Given the description of an element on the screen output the (x, y) to click on. 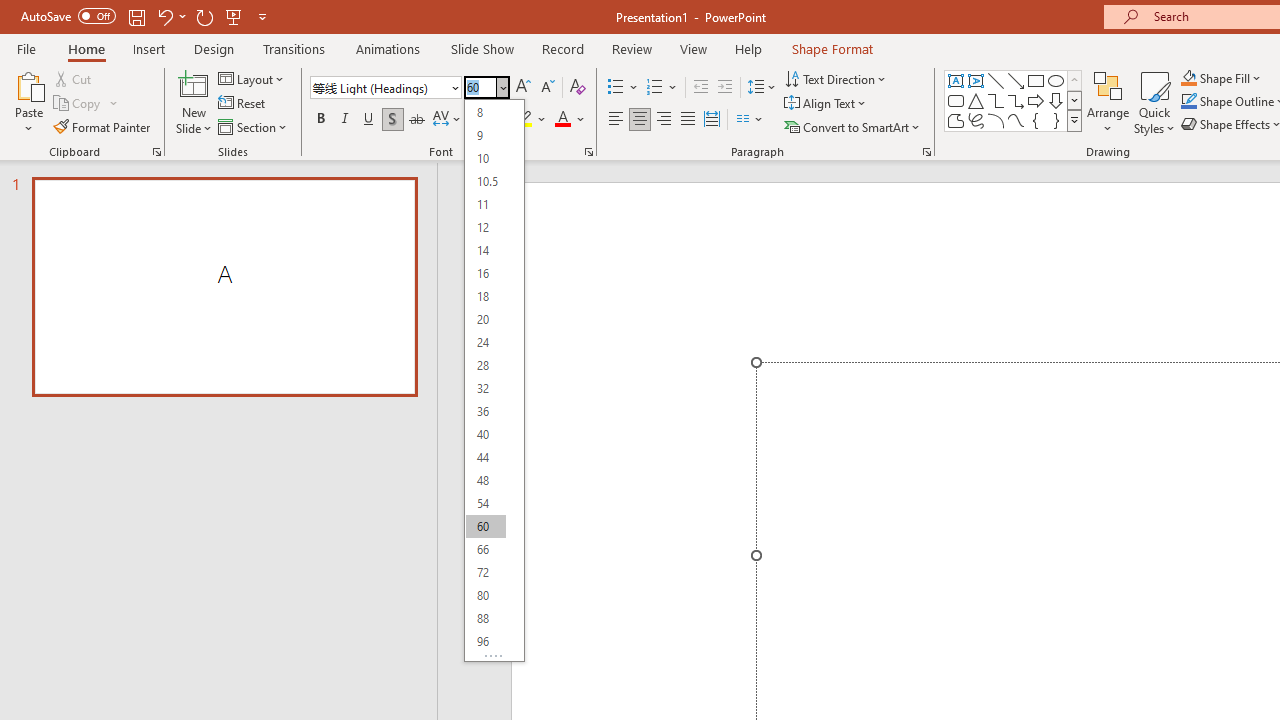
72 (485, 571)
18 (485, 296)
10.5 (485, 180)
Shape Fill Orange, Accent 2 (1188, 78)
8 (485, 111)
